Given the description of an element on the screen output the (x, y) to click on. 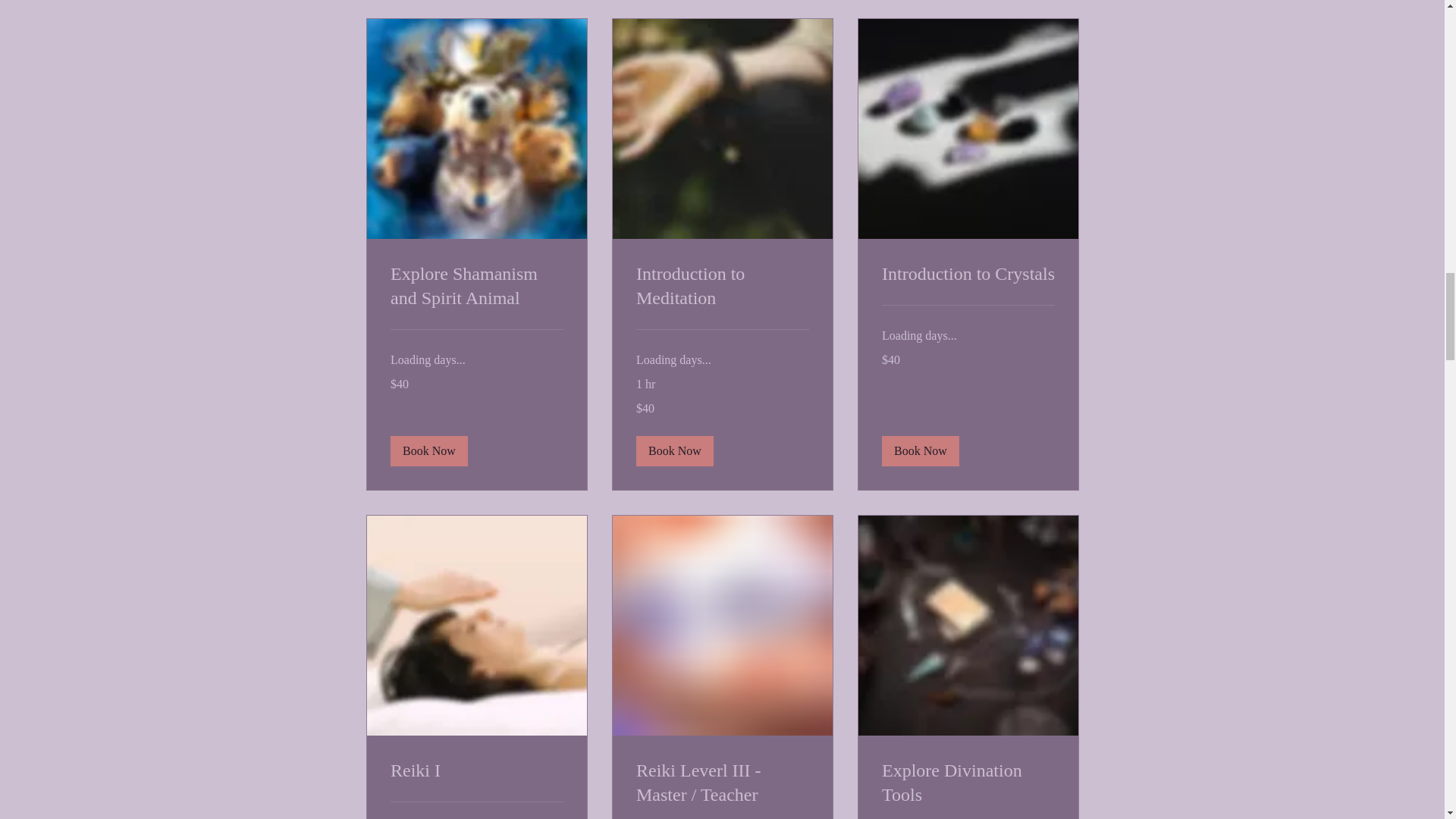
Book Now (673, 450)
Explore Divination Tools (967, 783)
Introduction to Meditation (721, 286)
Book Now (428, 450)
Introduction to Crystals (967, 274)
Explore Shamanism and Spirit Animal (476, 286)
Book Now (919, 450)
Reiki I (476, 770)
